Given the description of an element on the screen output the (x, y) to click on. 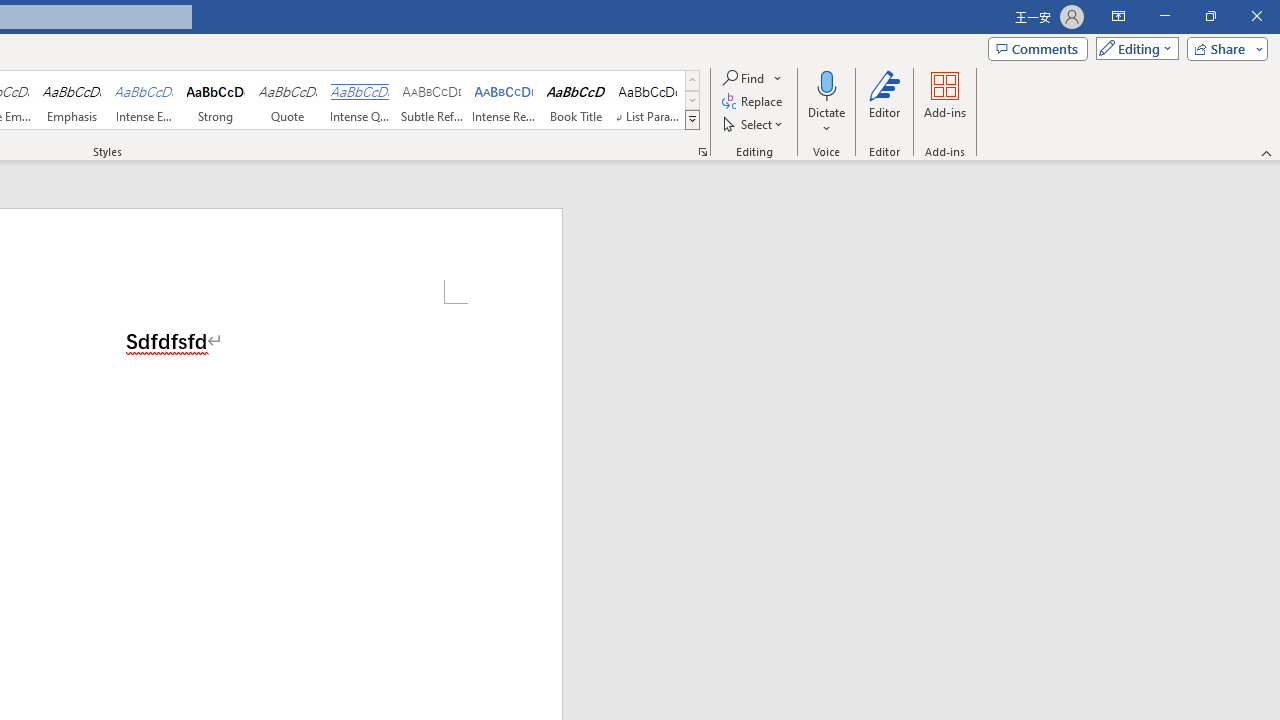
Strong (216, 100)
Quote (287, 100)
Book Title (575, 100)
Emphasis (71, 100)
Intense Emphasis (143, 100)
